Given the description of an element on the screen output the (x, y) to click on. 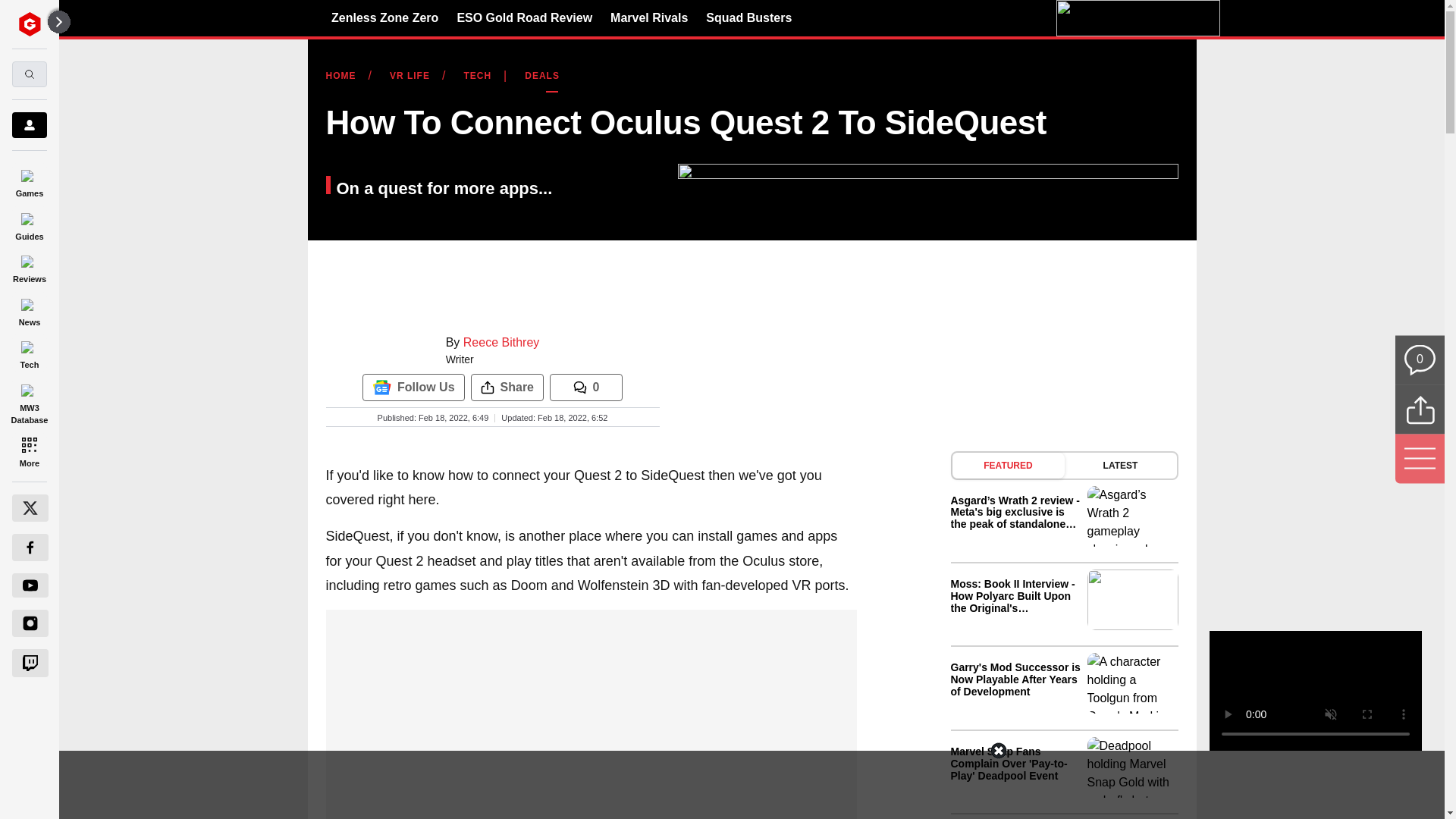
Tech (28, 352)
ESO Gold Road Review (524, 18)
Marvel Rivals (648, 18)
Guides (28, 224)
More (28, 450)
3rd party ad content (721, 785)
Reviews (28, 266)
Squad Busters (749, 18)
News (28, 309)
Zenless Zone Zero (384, 18)
Games (28, 180)
3rd party ad content (590, 704)
